Given the description of an element on the screen output the (x, y) to click on. 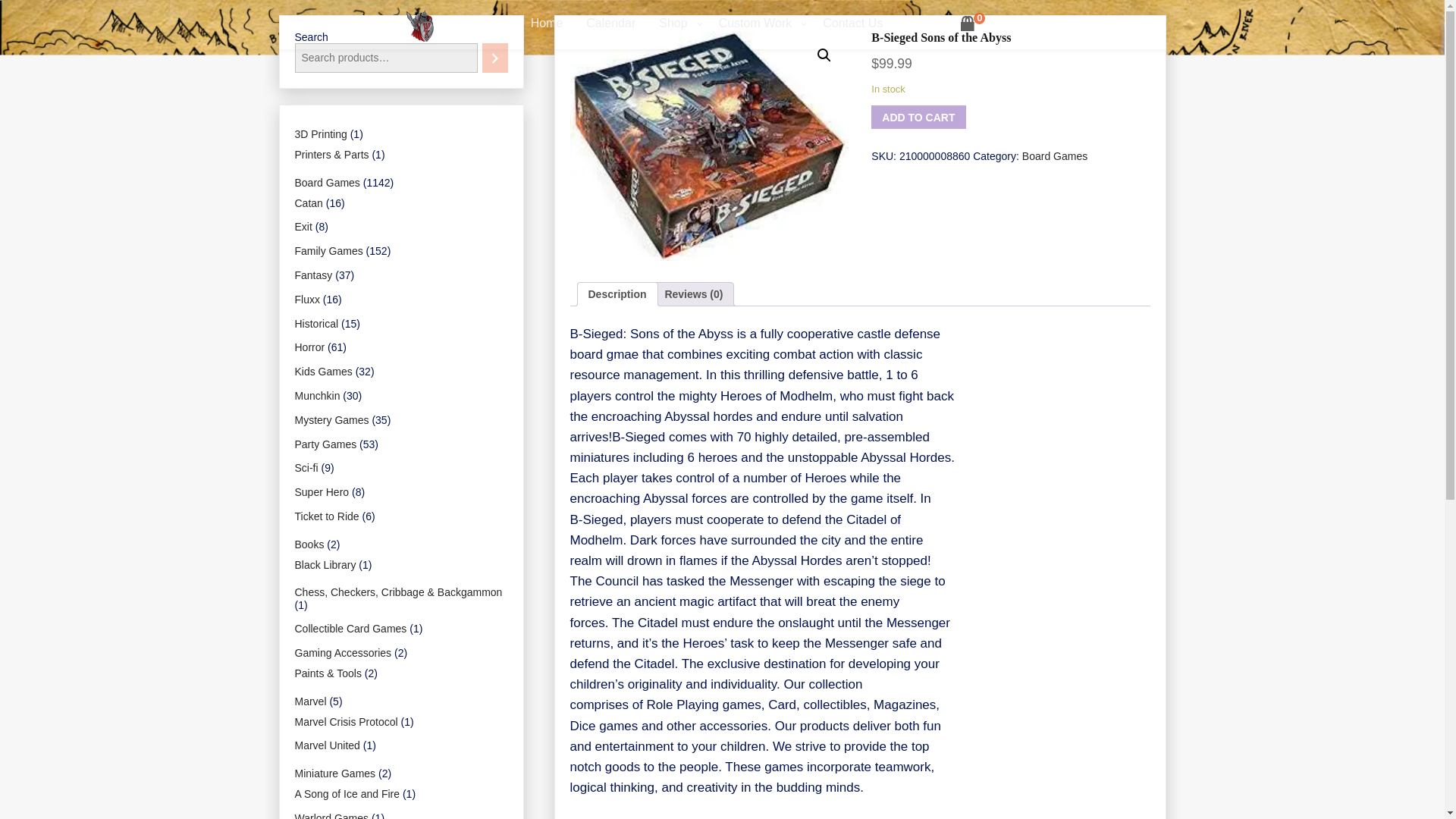
B-Sieged Sons of the Abyss (709, 146)
Board Games (1054, 155)
Contact Us (852, 24)
Shop (676, 24)
Description (617, 293)
Custom Work (759, 24)
ADD TO CART (917, 116)
Calendar (611, 24)
Home (547, 24)
